Given the description of an element on the screen output the (x, y) to click on. 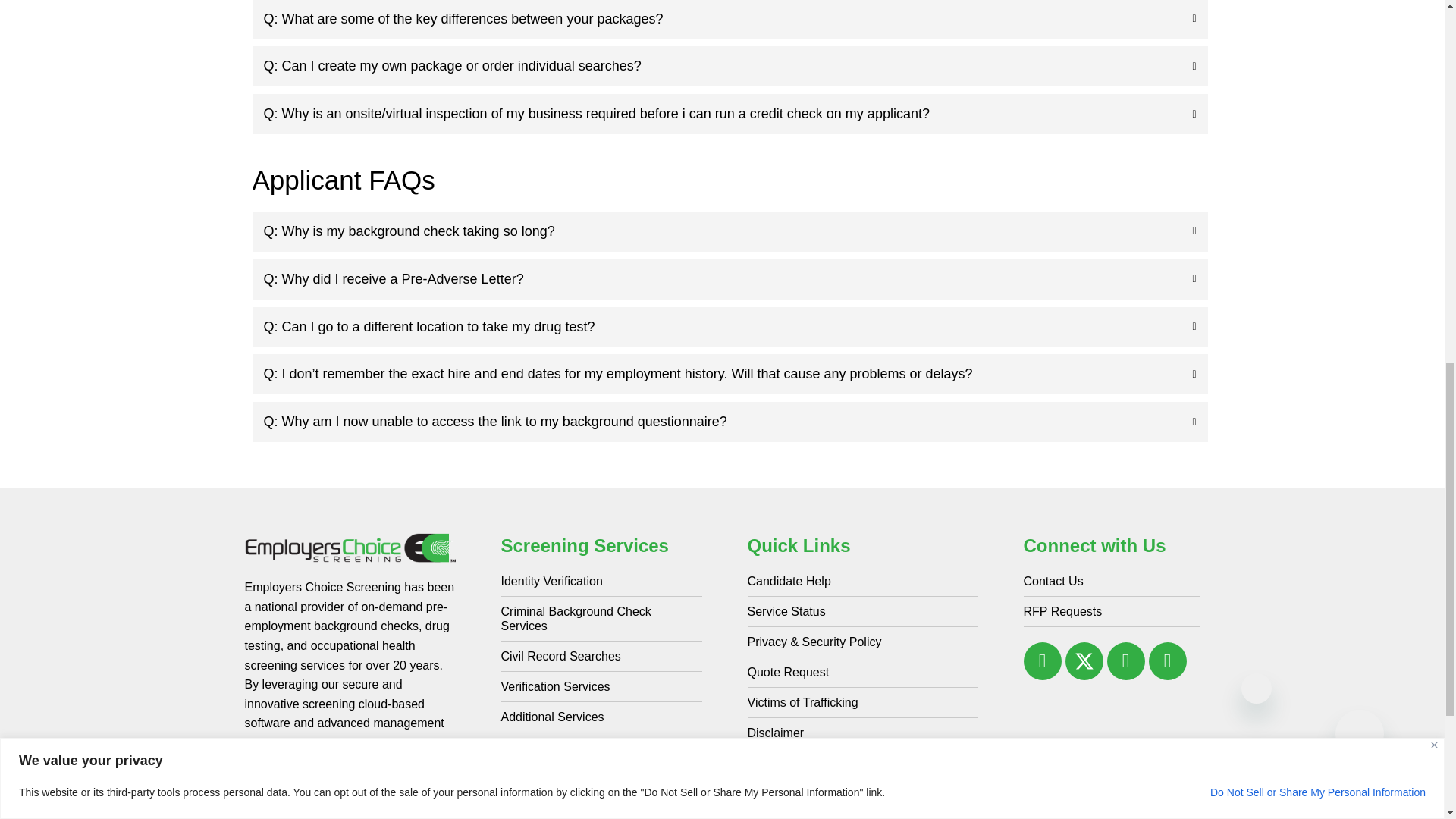
Employers Choice Logo (349, 547)
YouTube (1167, 661)
facebook (1042, 661)
Linkedin (1125, 661)
